Given the description of an element on the screen output the (x, y) to click on. 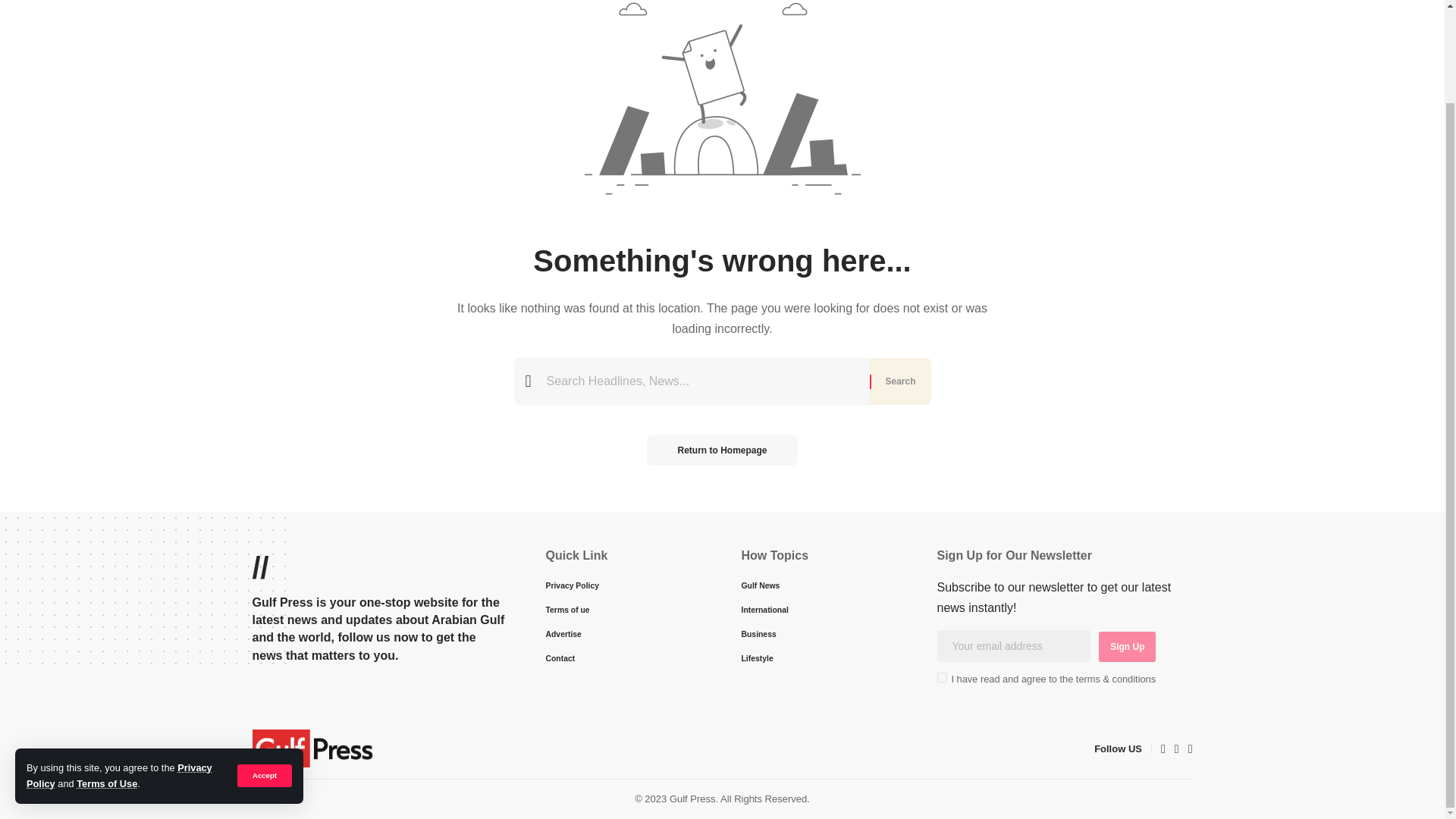
Gulf Press (311, 748)
1 (942, 677)
Accept (264, 668)
Privacy Policy (119, 668)
Terms of Use (106, 676)
Search (899, 380)
Search (899, 380)
Sign Up (1127, 646)
